Given the description of an element on the screen output the (x, y) to click on. 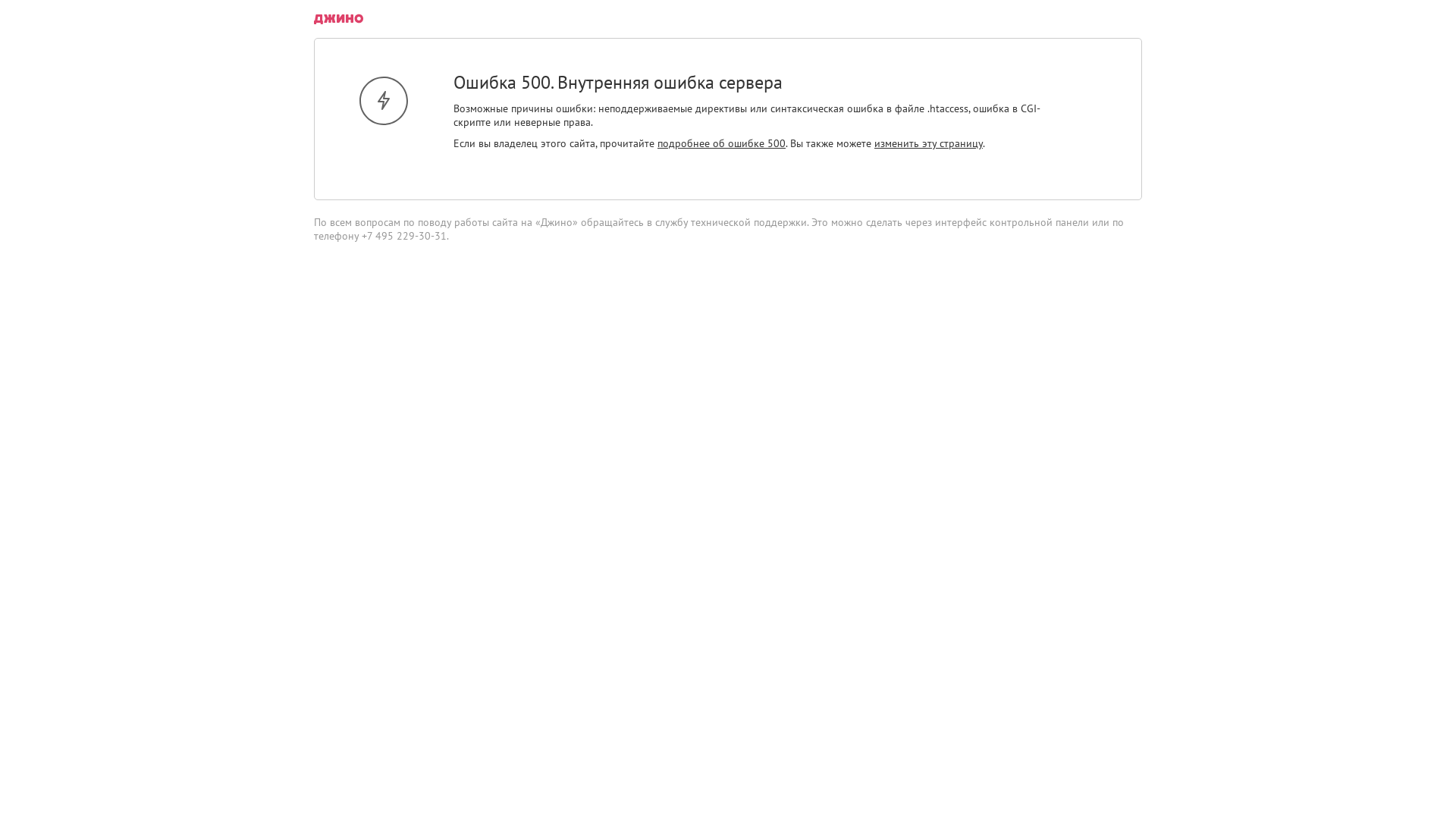
+7 495 229-30-31 Element type: text (403, 235)
